Given the description of an element on the screen output the (x, y) to click on. 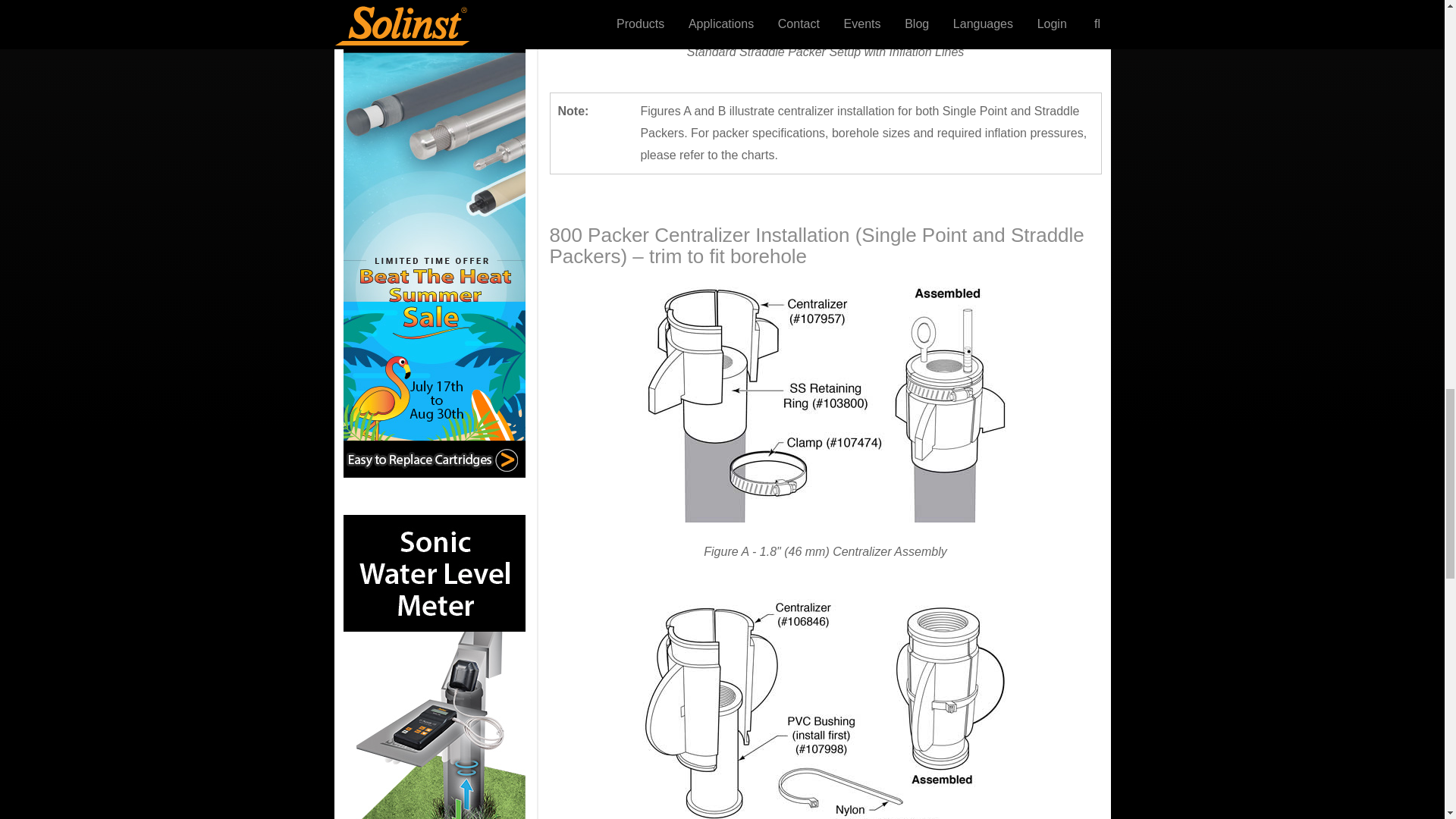
Solinst Sonic Water Level Meter (433, 667)
Beat the Heat Summer Sale (433, 249)
